Given the description of an element on the screen output the (x, y) to click on. 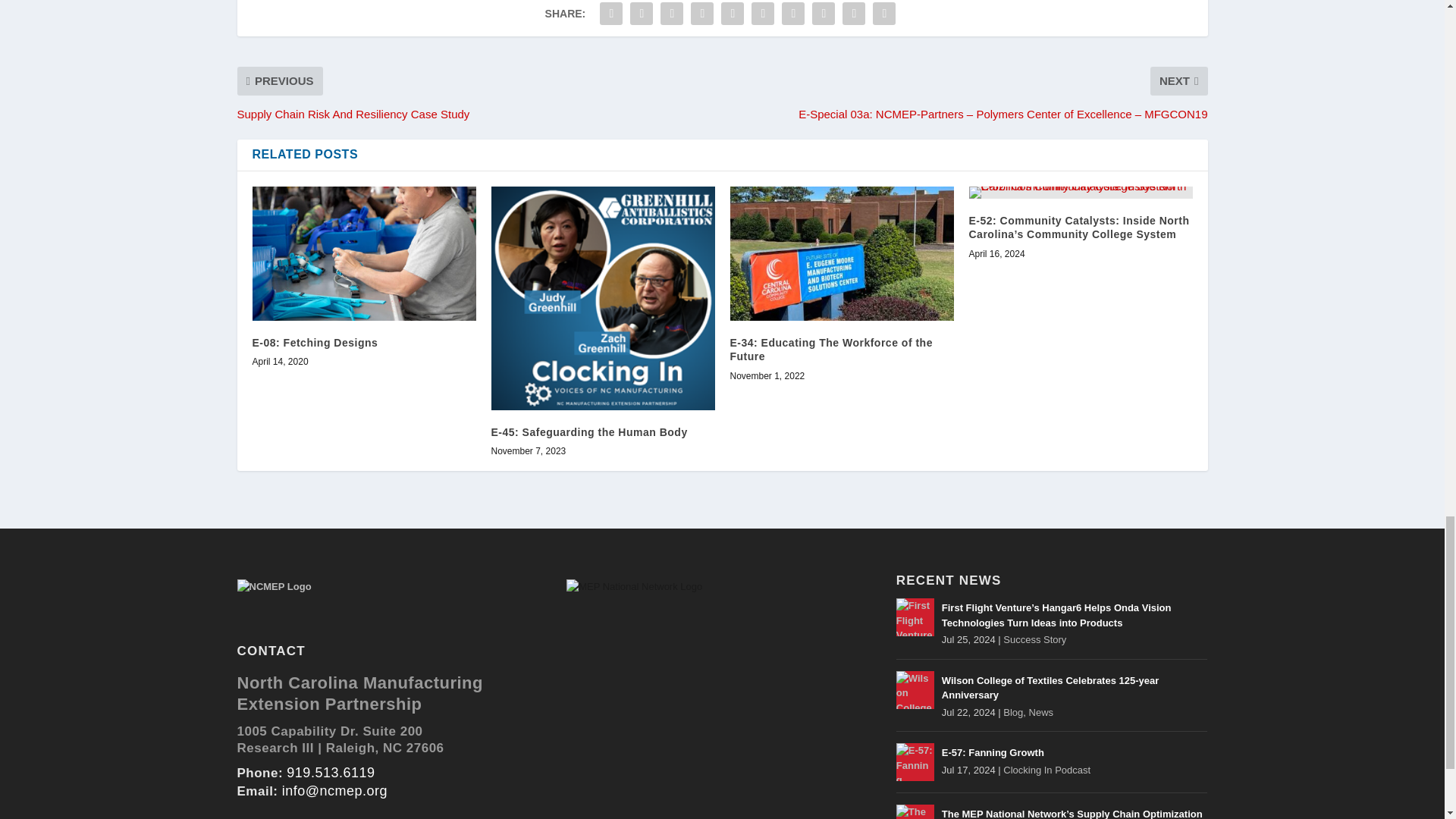
Share "E-16: Precision Prototyping" via Facebook (610, 14)
Share "E-16: Precision Prototyping" via Email (853, 14)
Share "E-16: Precision Prototyping" via Pinterest (732, 14)
E-34: Educating The Workforce of the Future (841, 253)
Share "E-16: Precision Prototyping" via Print (884, 14)
E-45: Safeguarding the Human Body (603, 298)
Share "E-16: Precision Prototyping" via Stumbleupon (823, 14)
E-08: Fetching Designs (363, 253)
Share "E-16: Precision Prototyping" via Buffer (792, 14)
Share "E-16: Precision Prototyping" via Tumblr (702, 14)
